Given the description of an element on the screen output the (x, y) to click on. 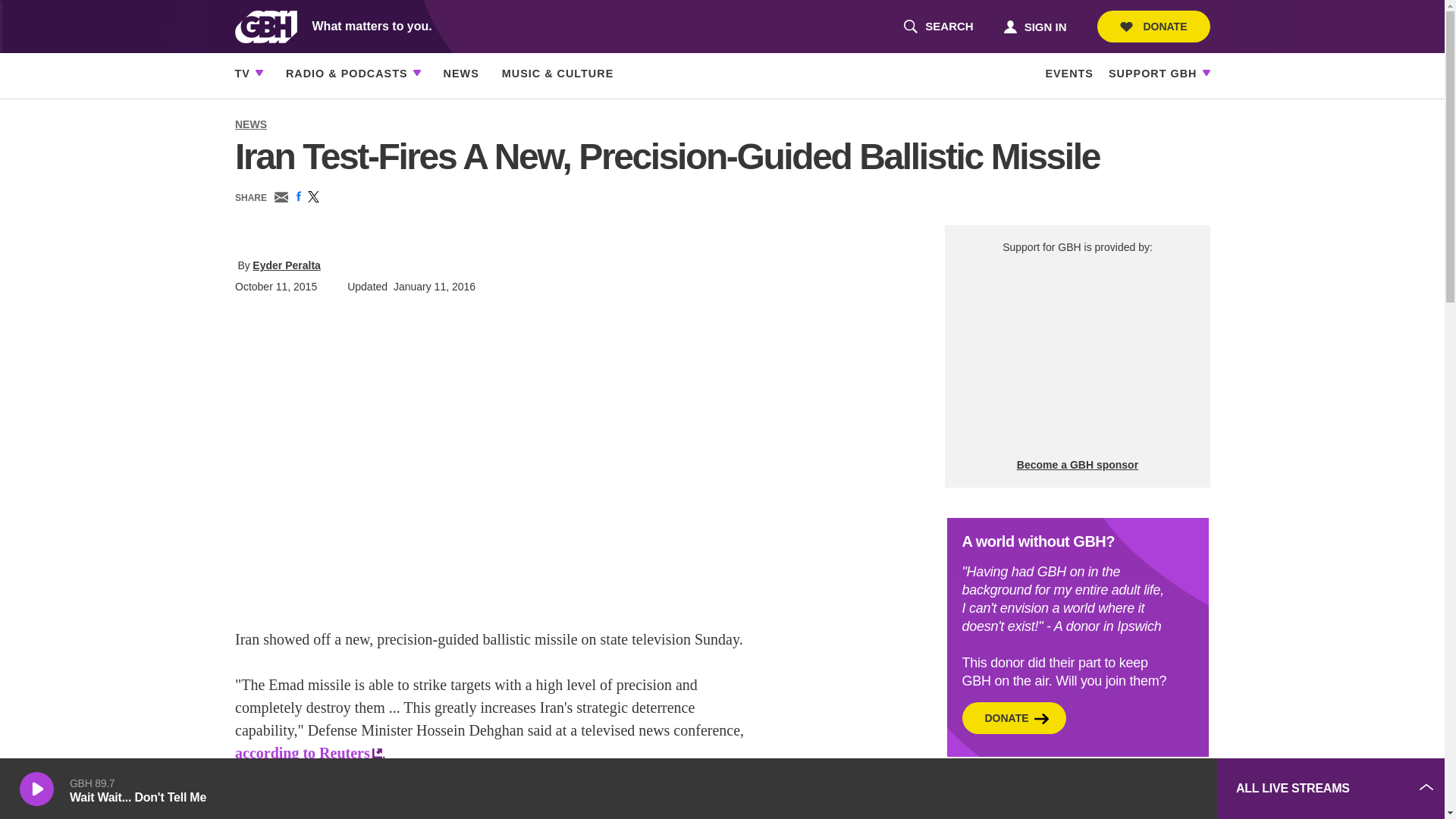
DONATE (1153, 26)
3rd party ad content (1076, 356)
3rd party ad content (1091, 788)
SIGN IN (1034, 25)
